Given the description of an element on the screen output the (x, y) to click on. 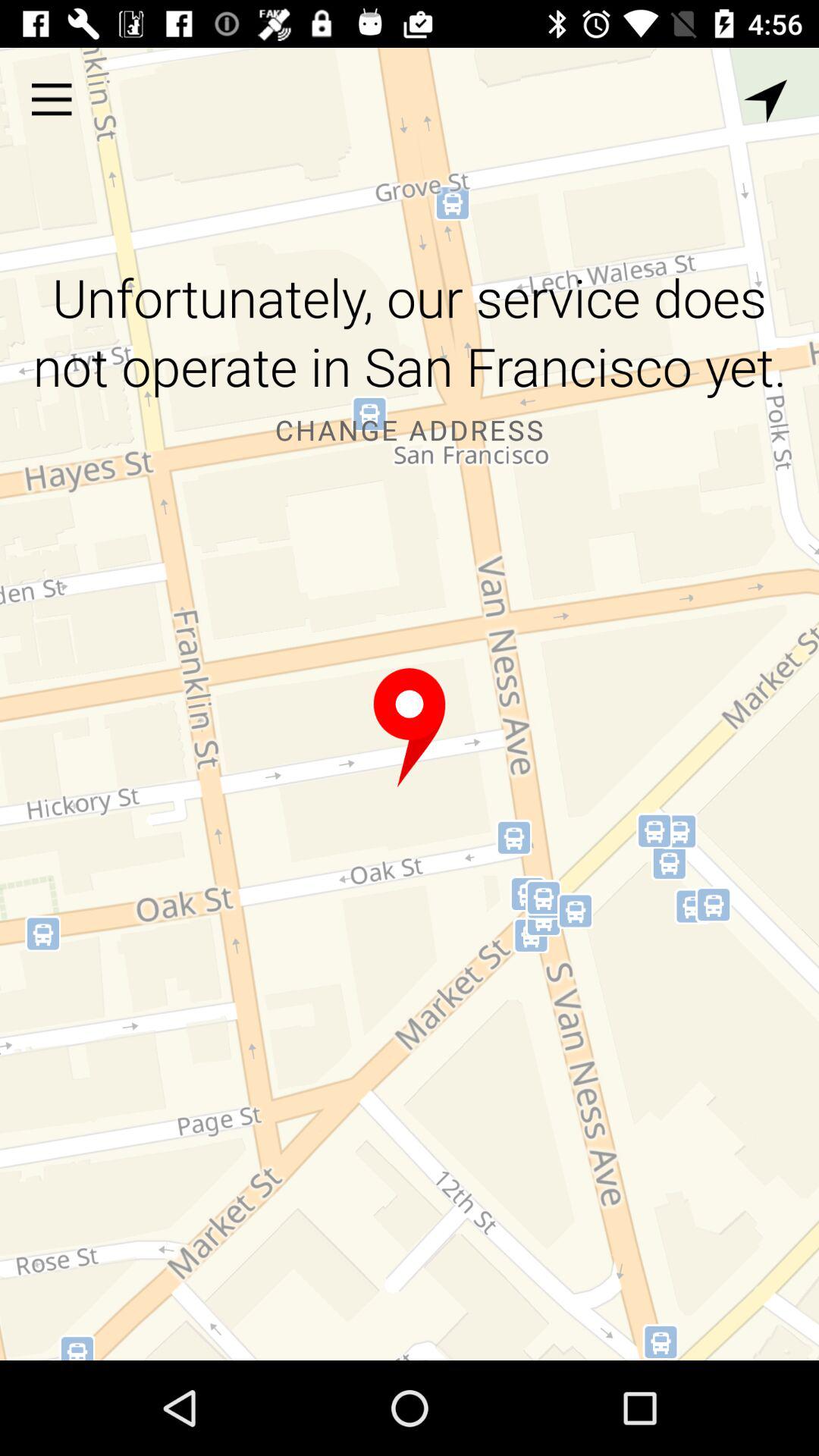
launch the icon at the top left corner (51, 99)
